Given the description of an element on the screen output the (x, y) to click on. 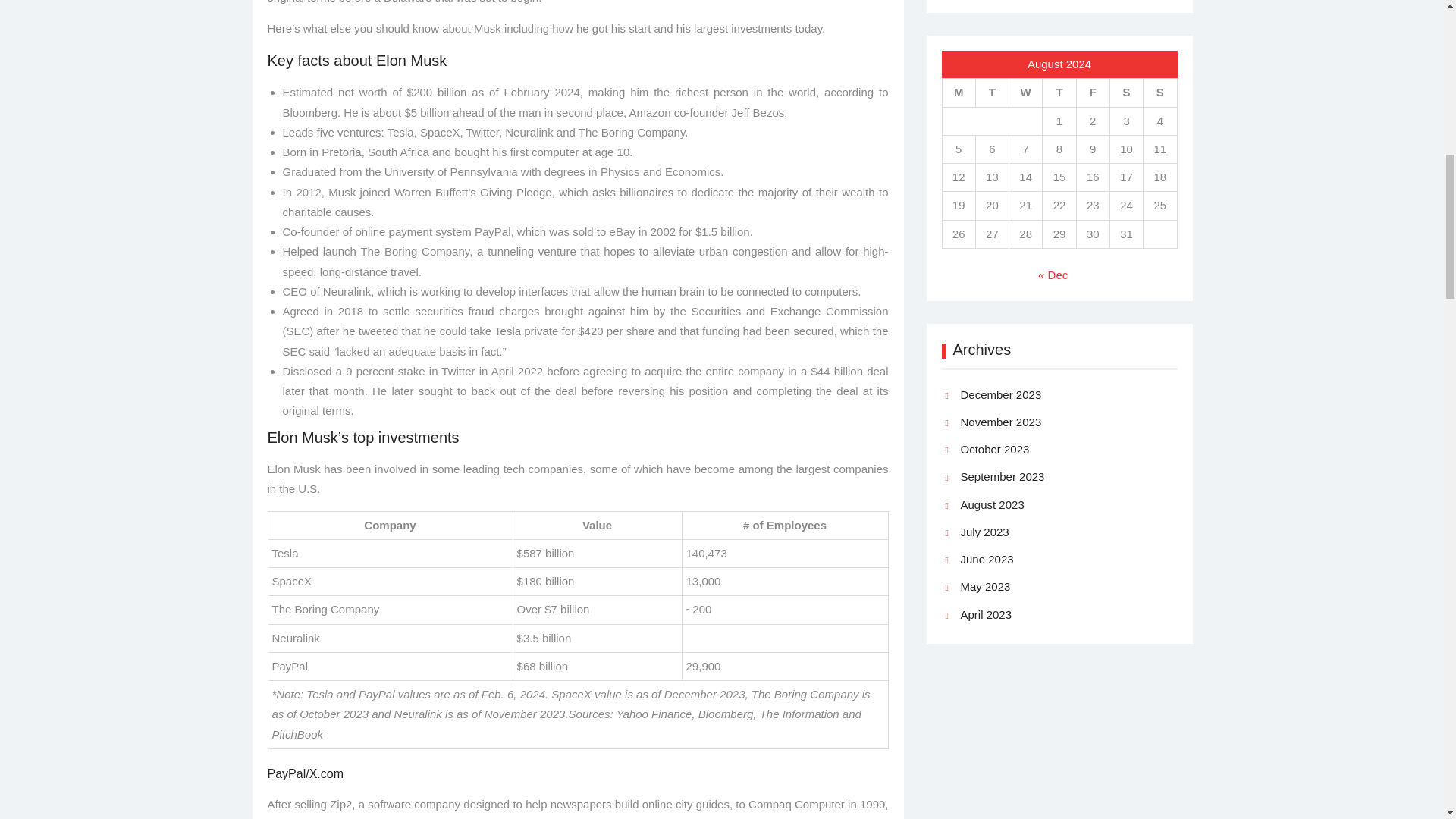
October 2023 (994, 449)
November 2023 (1000, 422)
Thursday (1058, 92)
June 2023 (986, 559)
April 2023 (985, 614)
December 2023 (1000, 394)
September 2023 (1001, 476)
Tuesday (992, 92)
May 2023 (984, 587)
Monday (958, 92)
